Given the description of an element on the screen output the (x, y) to click on. 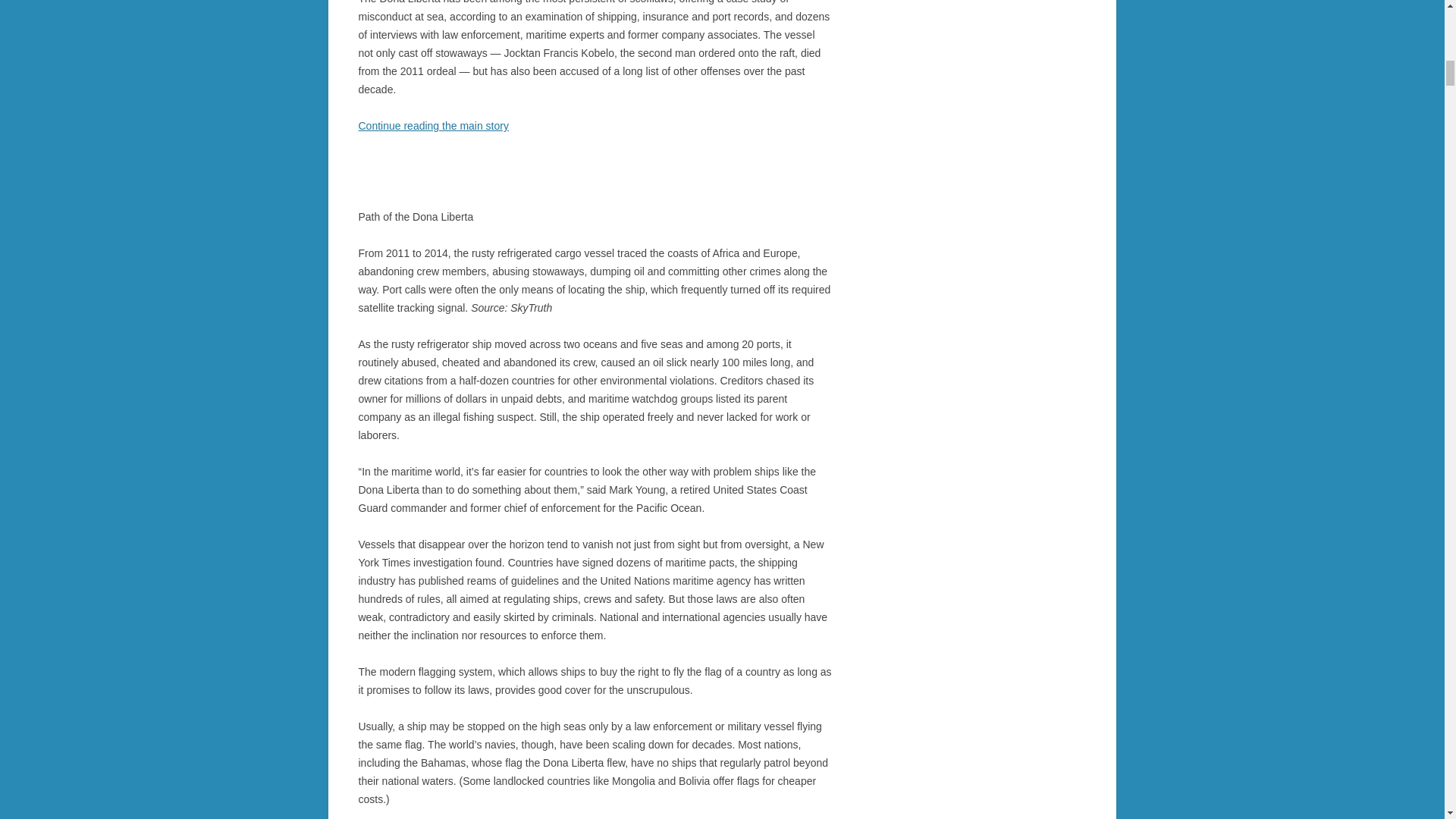
Continue reading the main story (433, 125)
